Given the description of an element on the screen output the (x, y) to click on. 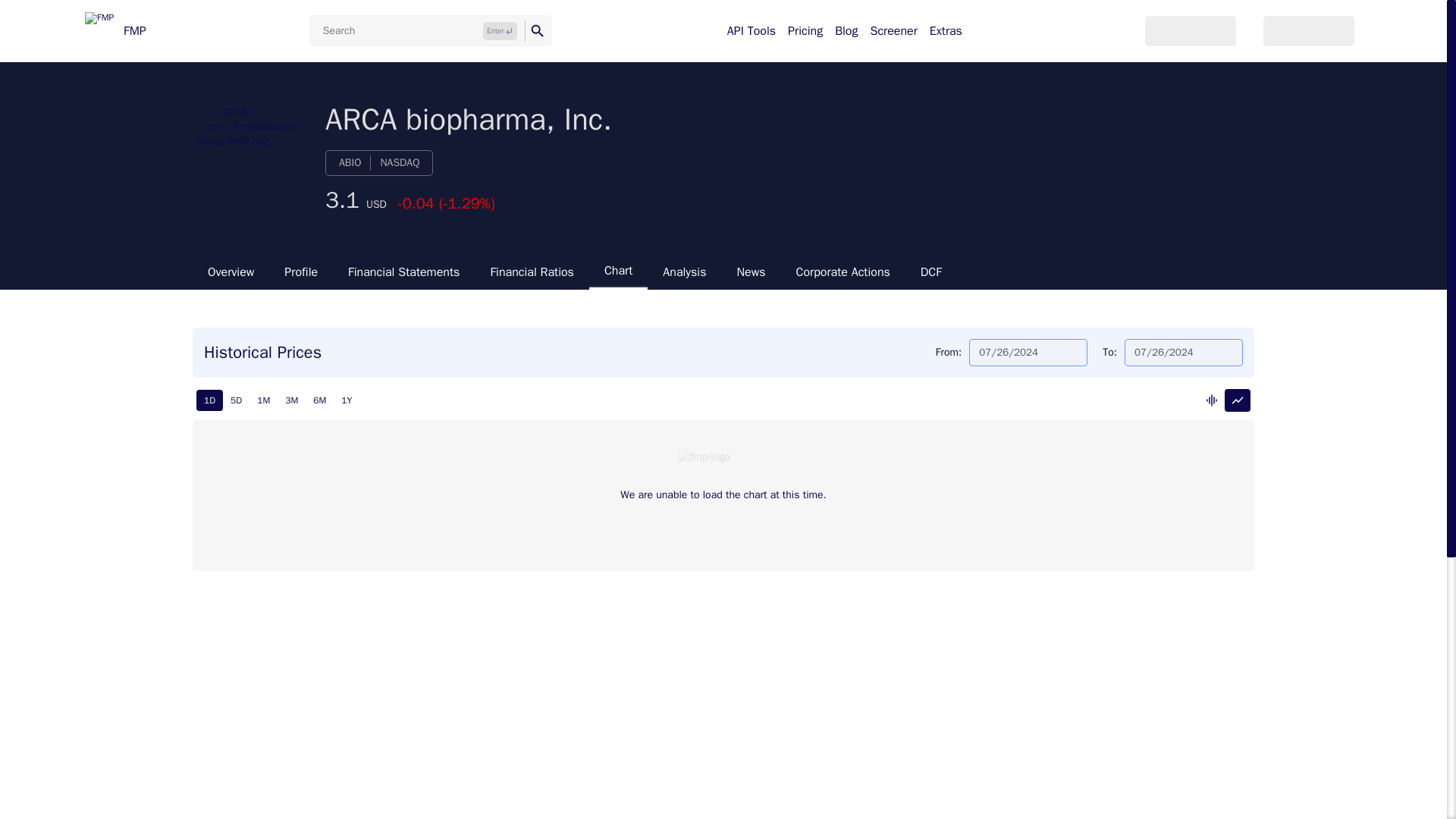
Line (1237, 400)
Candlestick (1211, 400)
FMP (115, 30)
Pricing (804, 30)
Overview (230, 271)
